Given the description of an element on the screen output the (x, y) to click on. 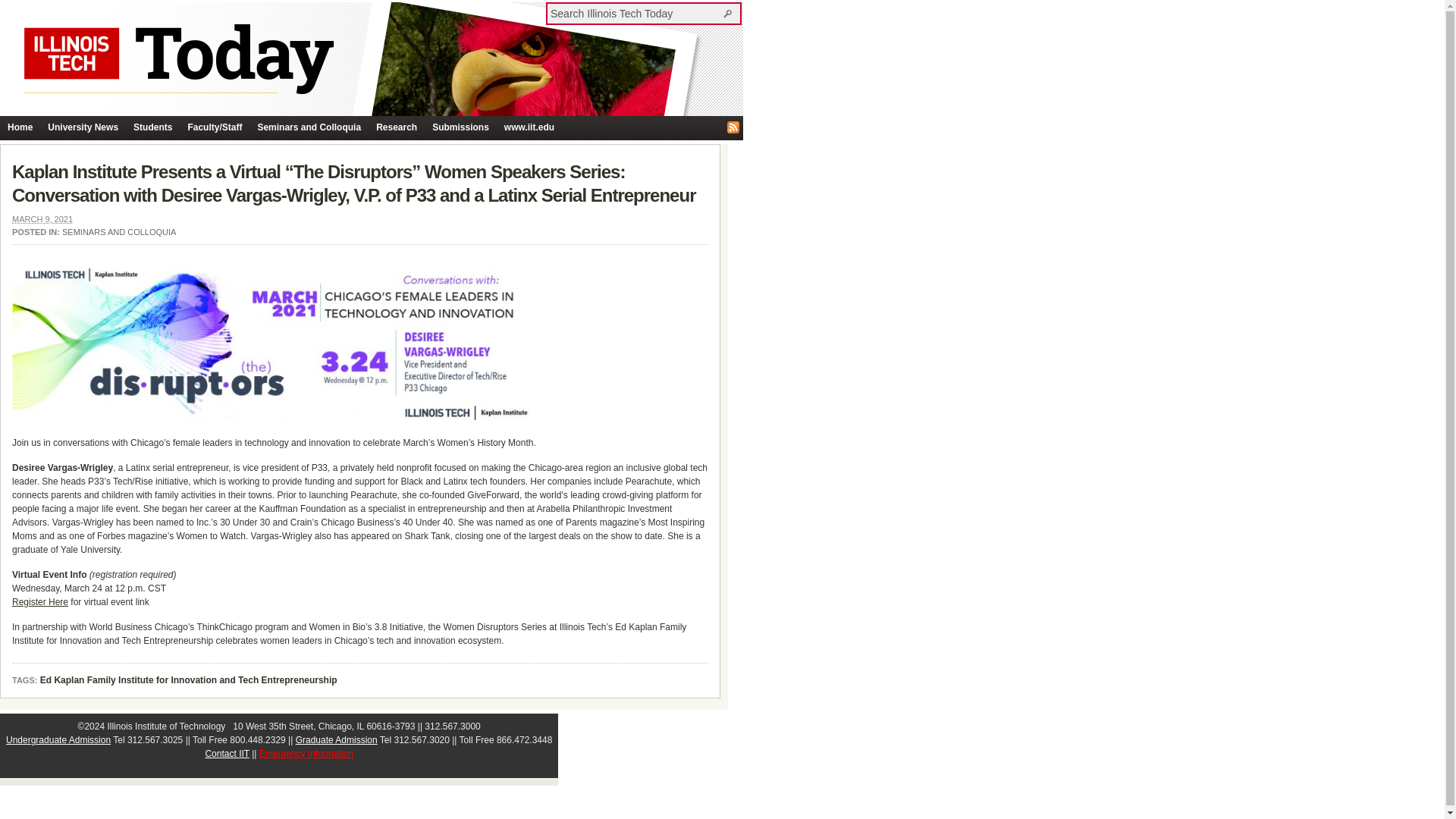
RSS Feed (732, 127)
Contact IIT (226, 753)
Home (20, 127)
Undergraduate Admission (57, 739)
Register Here (39, 602)
SEMINARS AND COLLOQUIA (119, 231)
2021-03-09T13:40:14-06:00 (41, 218)
Seminars and Colloquia (308, 127)
Search Illinois Tech Today (636, 13)
Submissions (460, 127)
